Given the description of an element on the screen output the (x, y) to click on. 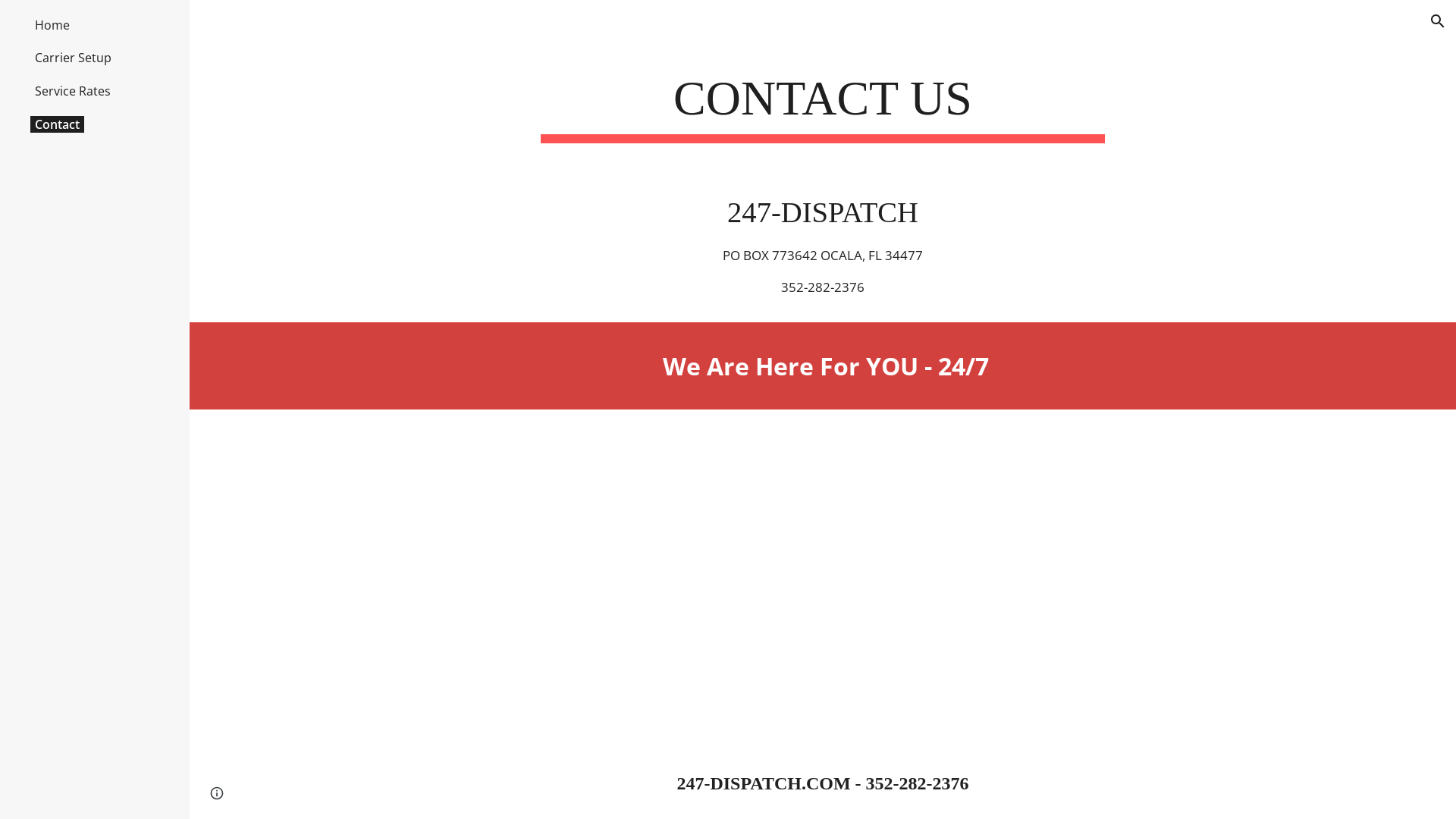
Service Rates Element type: text (72, 90)
Contact Element type: text (57, 124)
Carrier Setup Element type: text (73, 57)
Home Element type: text (52, 24)
